Given the description of an element on the screen output the (x, y) to click on. 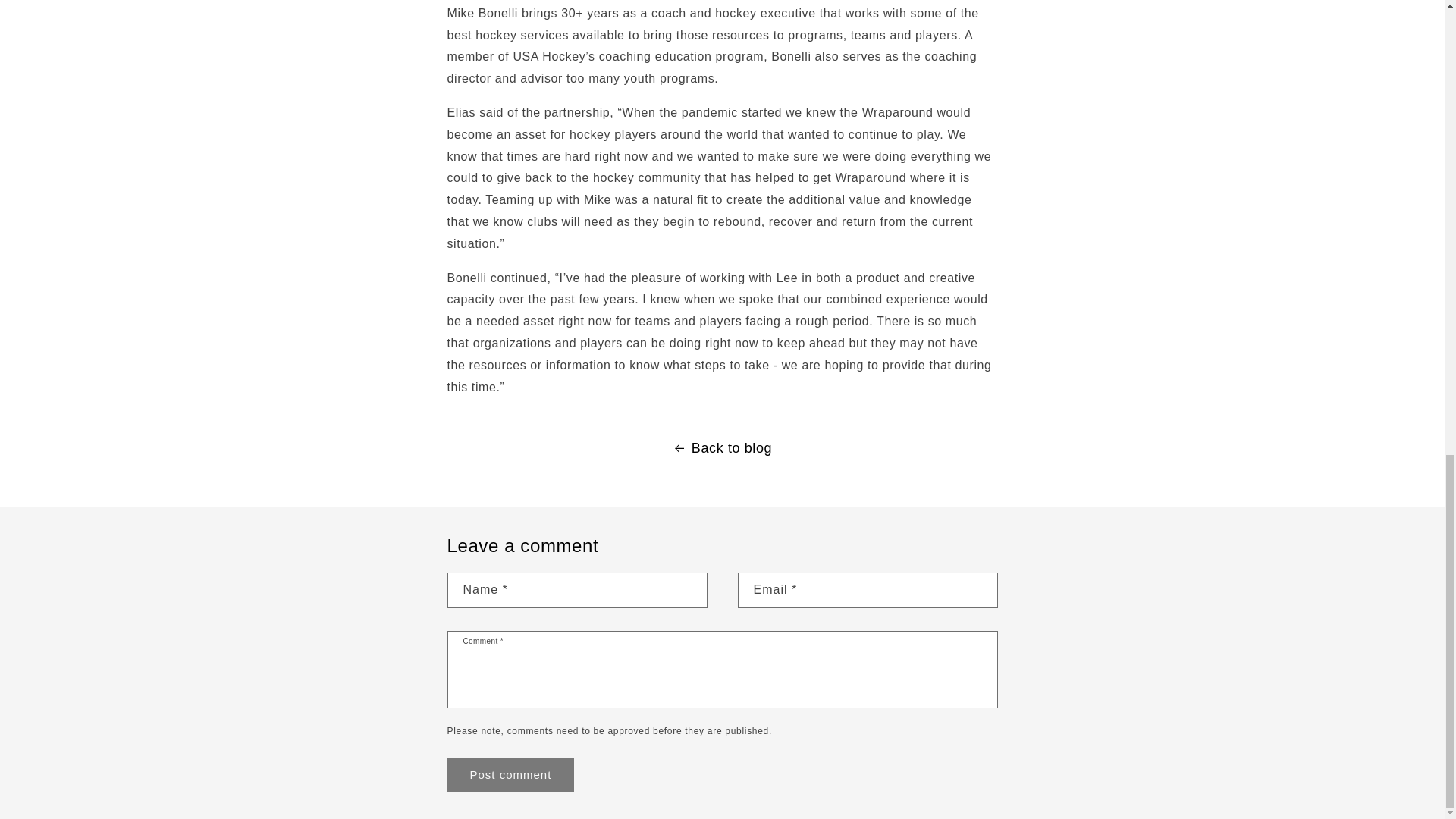
Post comment (510, 774)
Post comment (510, 774)
